Given the description of an element on the screen output the (x, y) to click on. 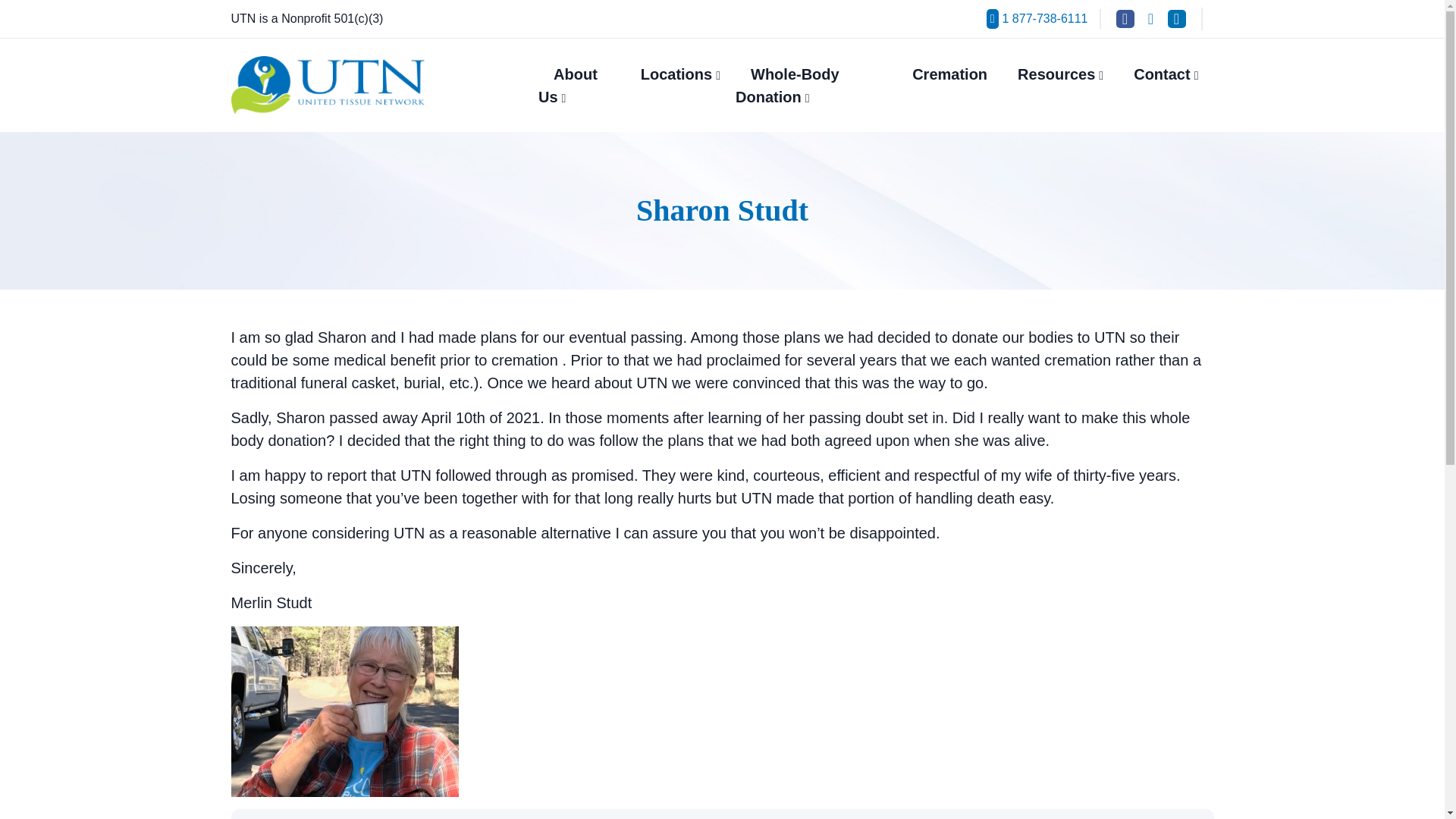
About Us (567, 85)
Cremation (949, 74)
1 877-738-6111 (1037, 18)
Whole-Body Donation (787, 85)
Resources (1060, 74)
Contact (1165, 74)
Locations (680, 74)
